Given the description of an element on the screen output the (x, y) to click on. 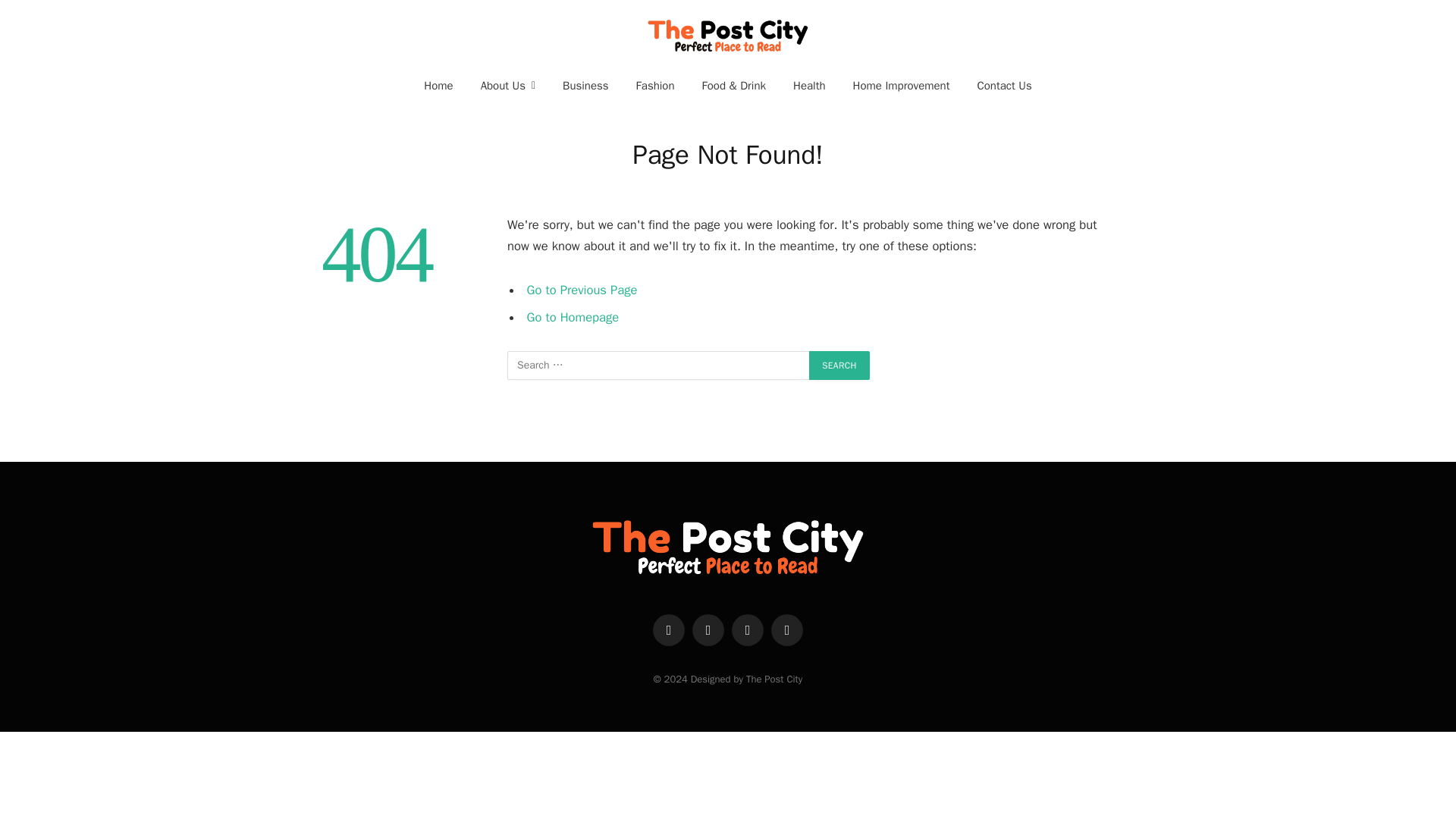
Home Improvement (901, 85)
The Post City (727, 34)
WhatsApp (787, 630)
Fashion (655, 85)
Facebook (668, 630)
Search (839, 365)
Pinterest (747, 630)
Go to Previous Page (582, 289)
Search (839, 365)
About Us (507, 85)
Business (585, 85)
Search (839, 365)
Health (809, 85)
Home (437, 85)
Go to Homepage (573, 317)
